Given the description of an element on the screen output the (x, y) to click on. 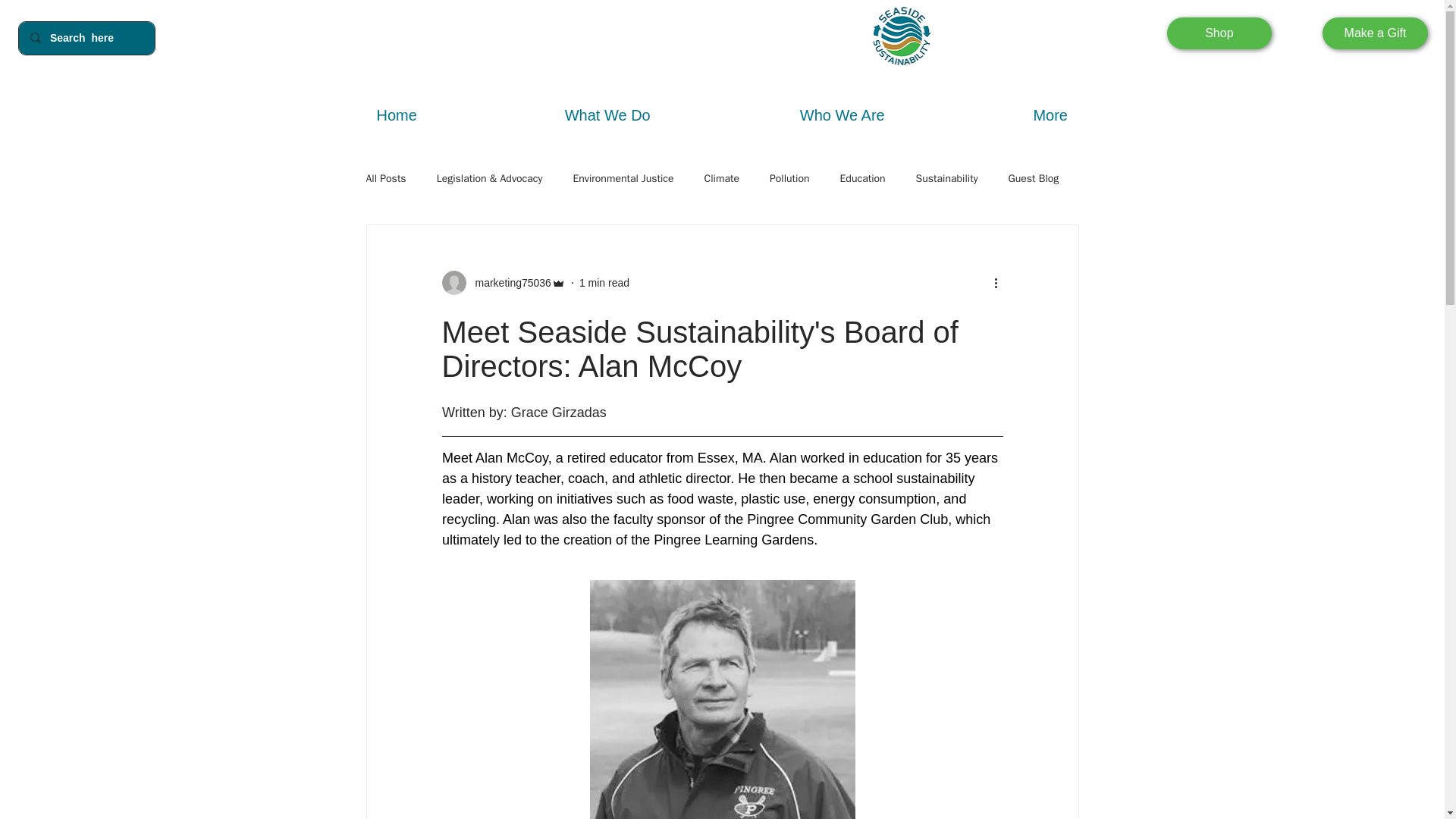
Pollution (789, 178)
Make a Gift (1374, 33)
1 min read (603, 282)
Education (862, 178)
Shop (1219, 33)
marketing75036 (502, 282)
Climate (721, 178)
What We Do (607, 115)
marketing75036 (507, 283)
Environmental Justice (622, 178)
Home (395, 115)
Sustainability (946, 178)
Guest Blog (1034, 178)
Who We Are (842, 115)
All Posts (385, 178)
